Given the description of an element on the screen output the (x, y) to click on. 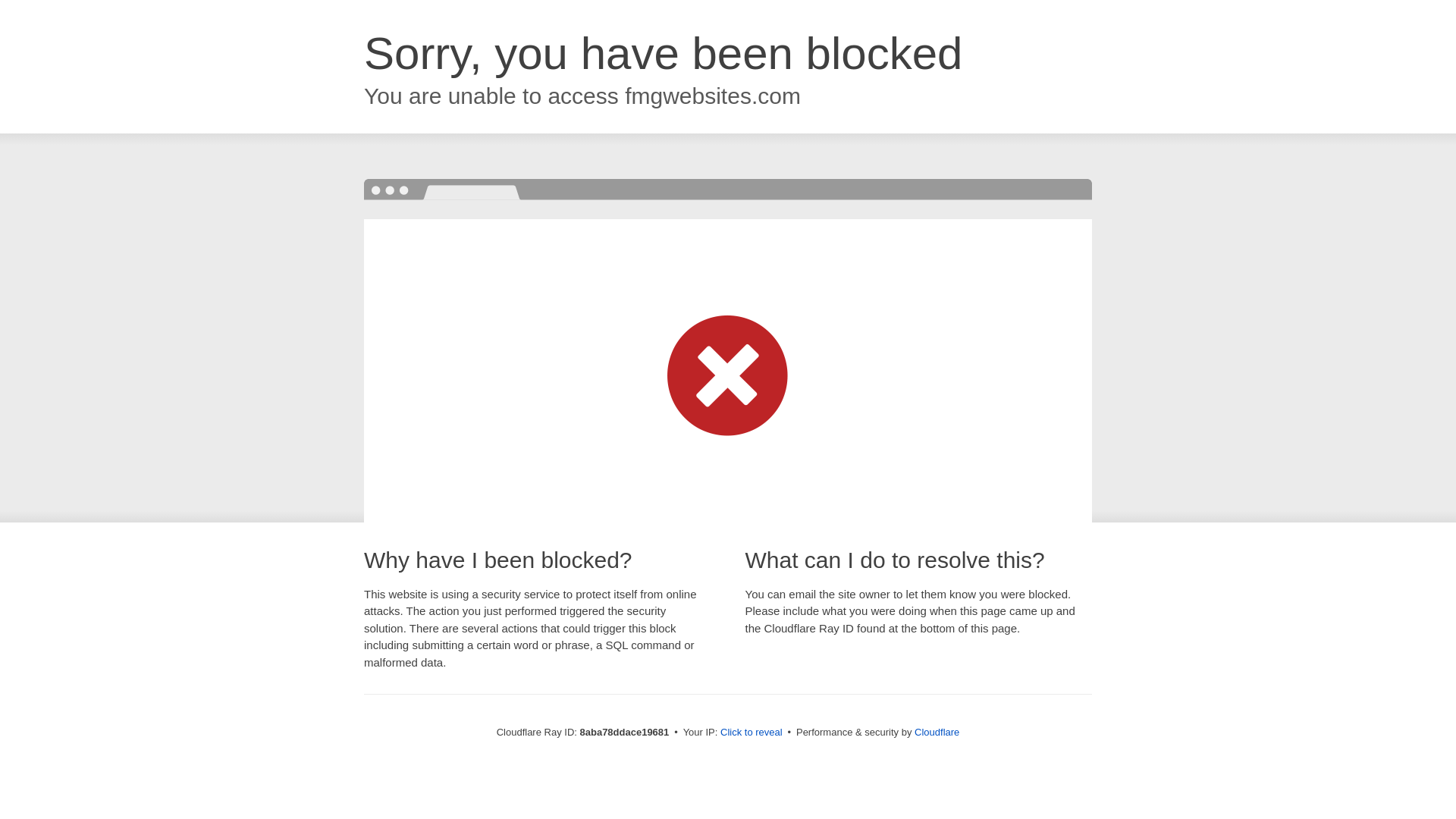
Click to reveal (751, 732)
Cloudflare (936, 731)
